Given the description of an element on the screen output the (x, y) to click on. 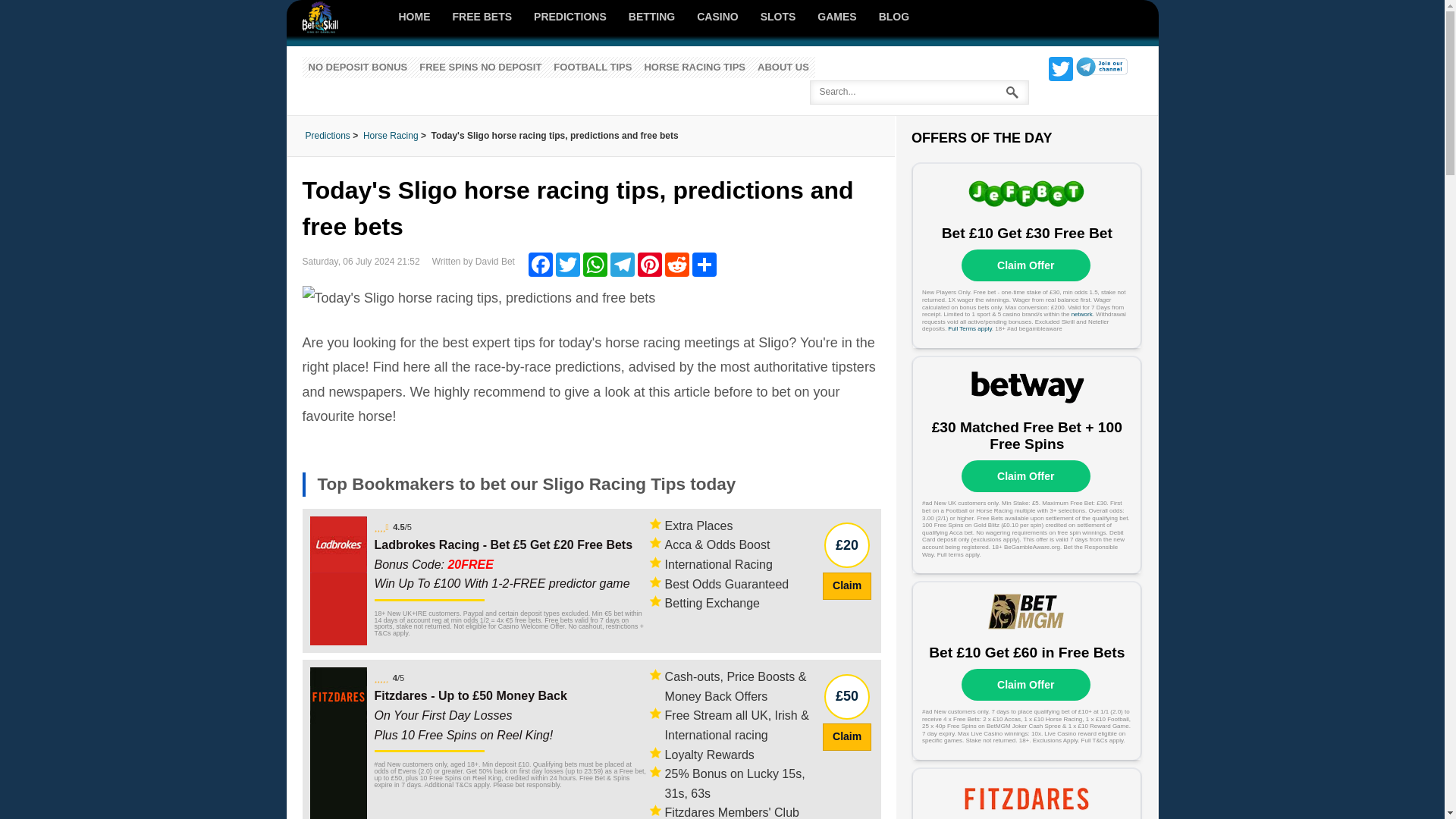
Betting (651, 17)
BLOG (893, 17)
Search... (919, 92)
Home (415, 17)
PREDICTIONS (569, 17)
BetAndSkill (333, 17)
GAMES (836, 17)
BETTING (651, 17)
Free Bets (481, 17)
CASINO (717, 17)
NO DEPOSIT BONUS (357, 66)
SLOTS (778, 17)
HOME (415, 17)
Predictions (569, 17)
FREE BETS (481, 17)
